Given the description of an element on the screen output the (x, y) to click on. 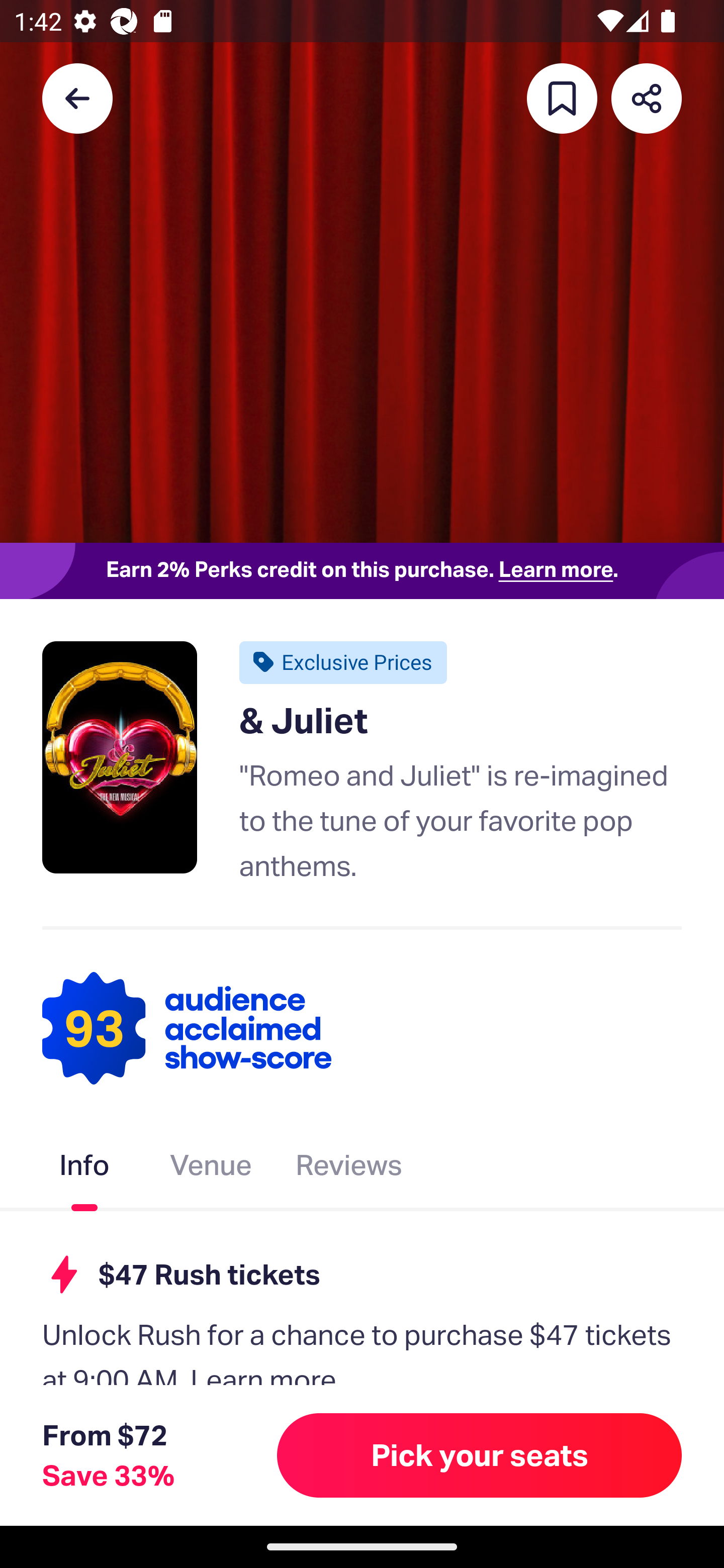
Earn 2% Perks credit on this purchase. Learn more. (362, 570)
Venue (210, 1168)
Reviews (348, 1168)
Pick your seats (479, 1454)
